Given the description of an element on the screen output the (x, y) to click on. 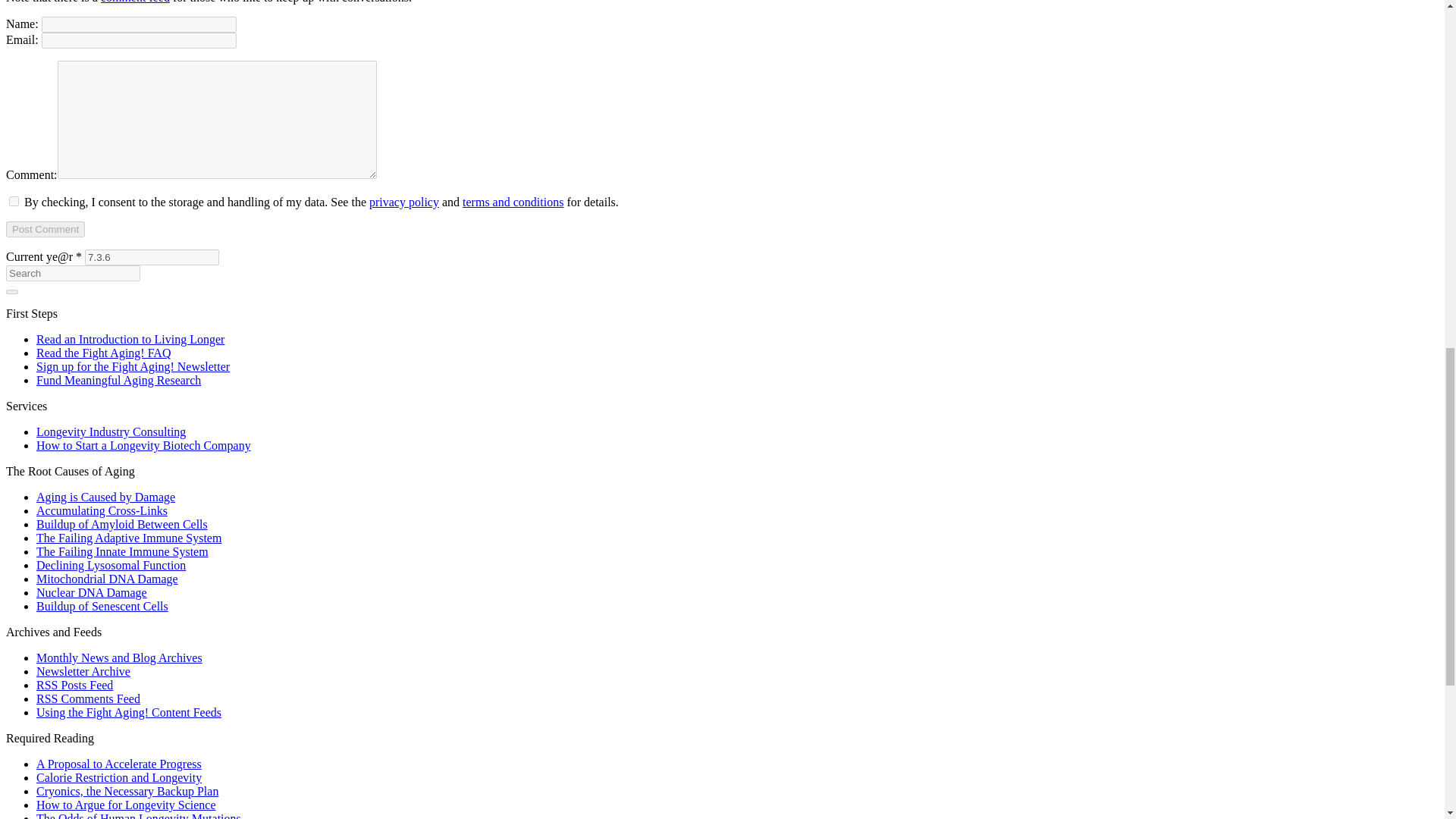
Post Comment (44, 229)
terms and conditions (513, 201)
comment feed (135, 2)
privacy policy (404, 201)
Post Comment (44, 229)
1 (13, 201)
7.3.6 (151, 257)
